Given the description of an element on the screen output the (x, y) to click on. 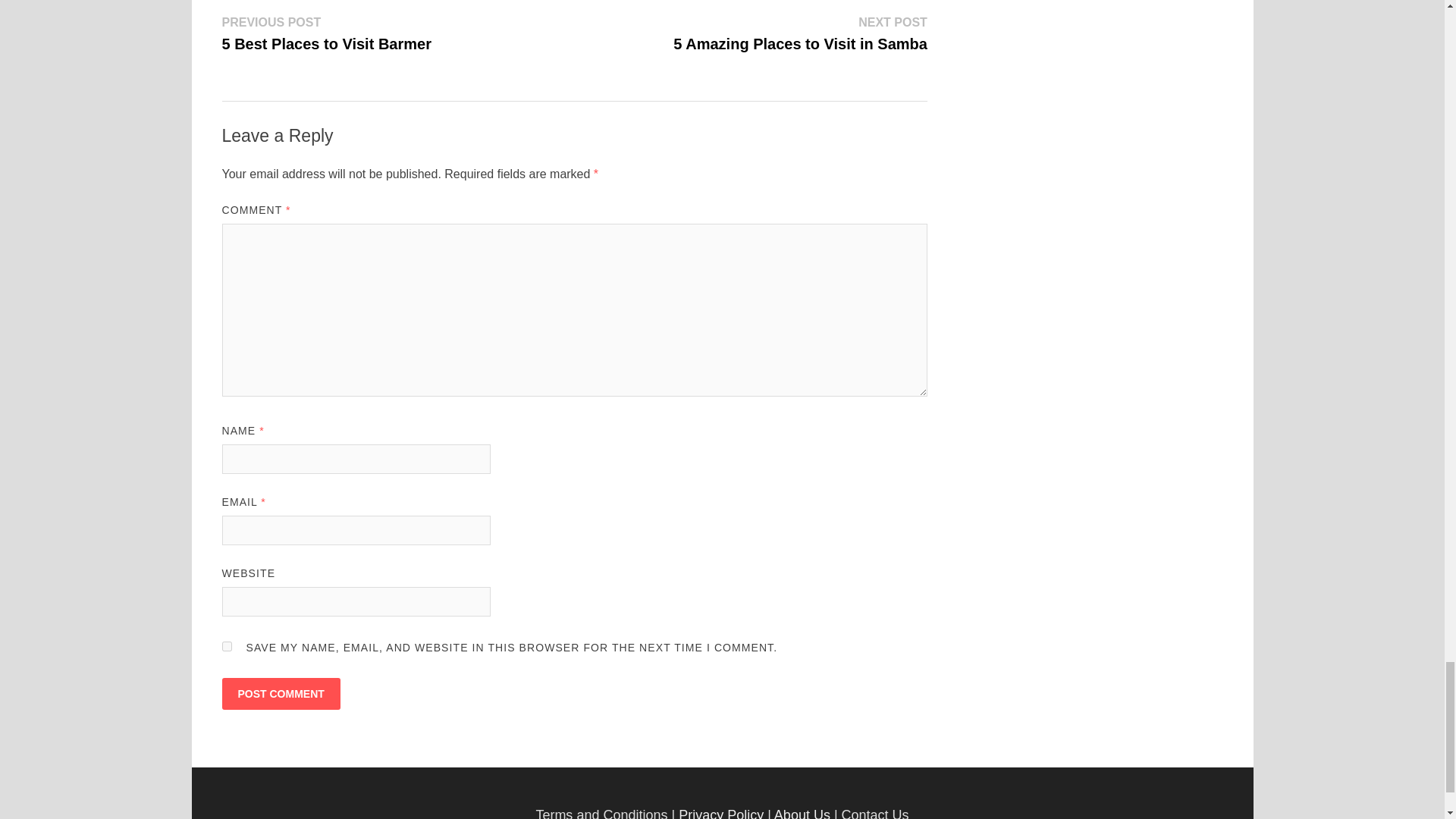
yes (226, 646)
Post Comment (280, 694)
